Given the description of an element on the screen output the (x, y) to click on. 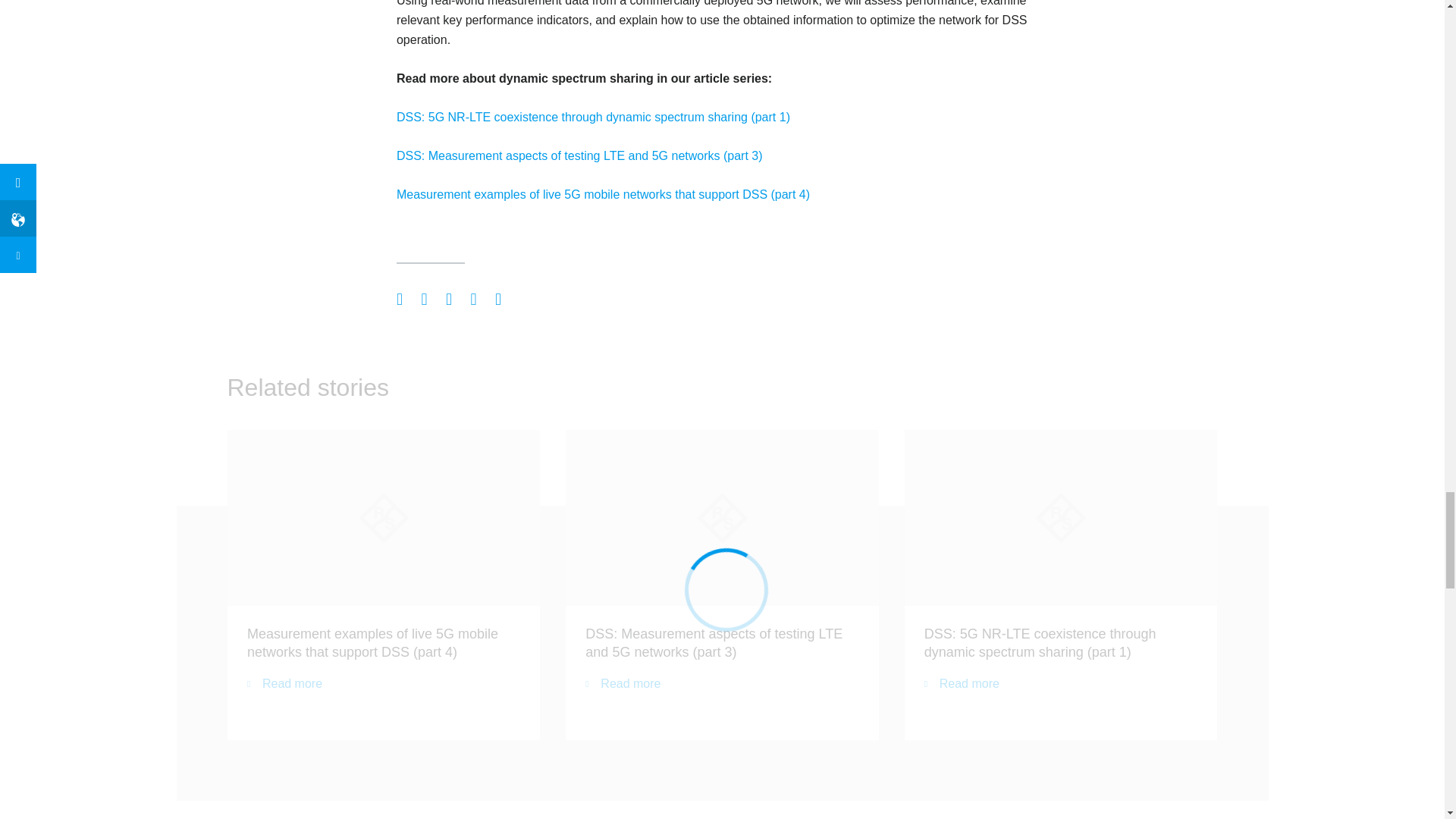
Read more (284, 683)
